Given the description of an element on the screen output the (x, y) to click on. 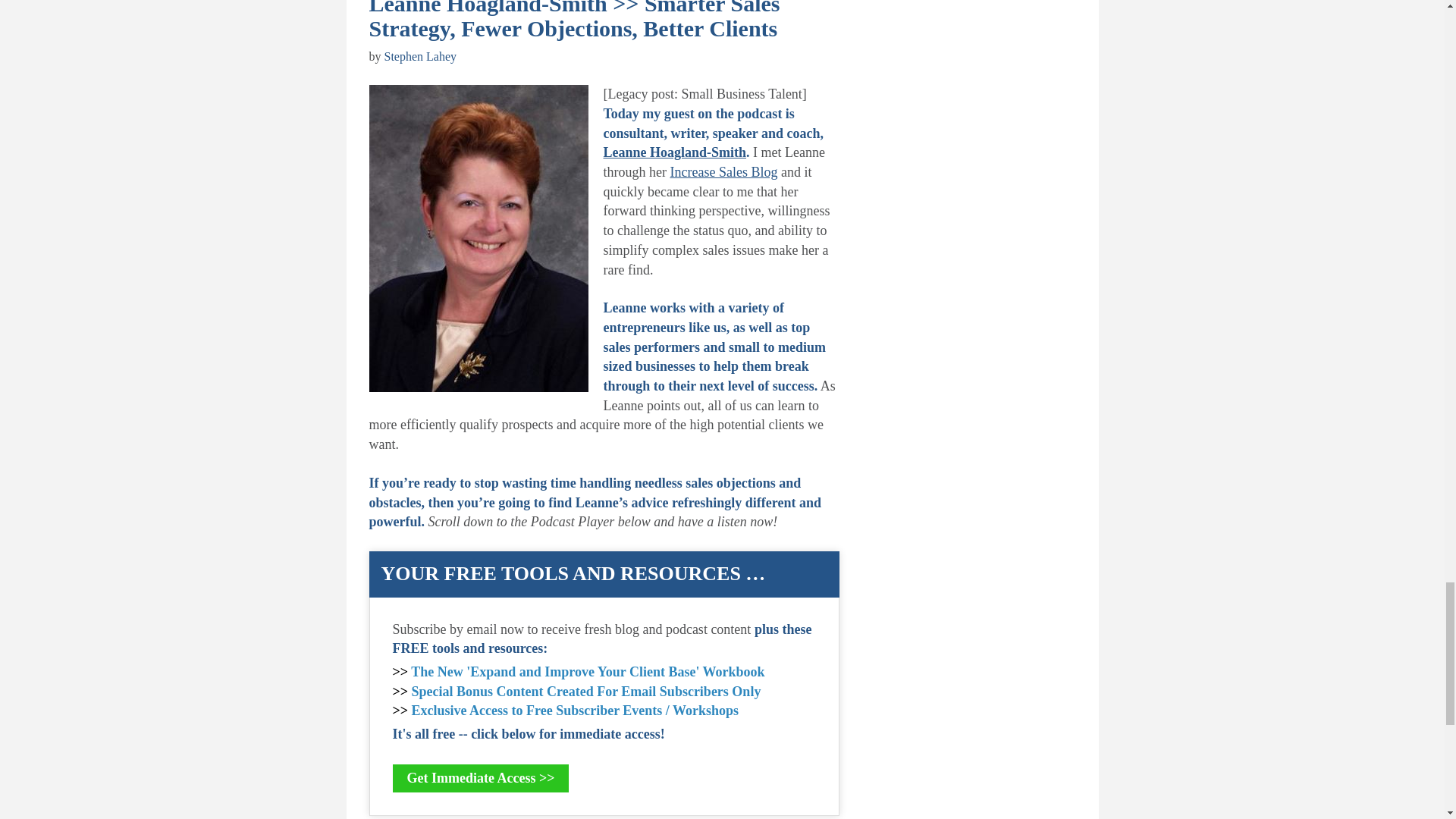
About Leanne Hoagland-Smith (675, 151)
The Increase Sales Blog (723, 171)
